Given the description of an element on the screen output the (x, y) to click on. 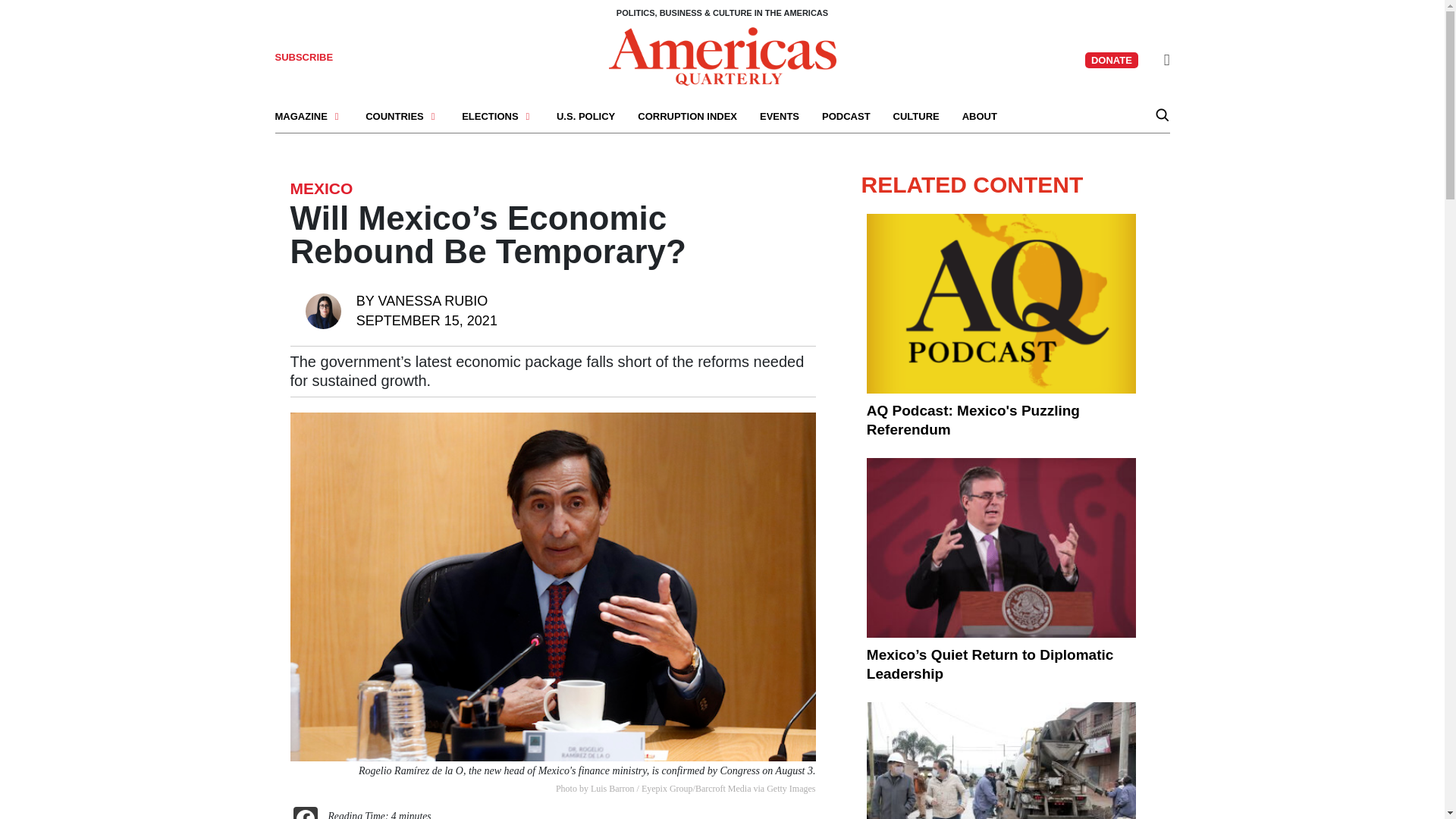
Americas Quarterly (721, 56)
SUBSCRIBE (304, 57)
DONATE (1111, 59)
Facebook (304, 812)
Americas Quarterly (721, 54)
